Given the description of an element on the screen output the (x, y) to click on. 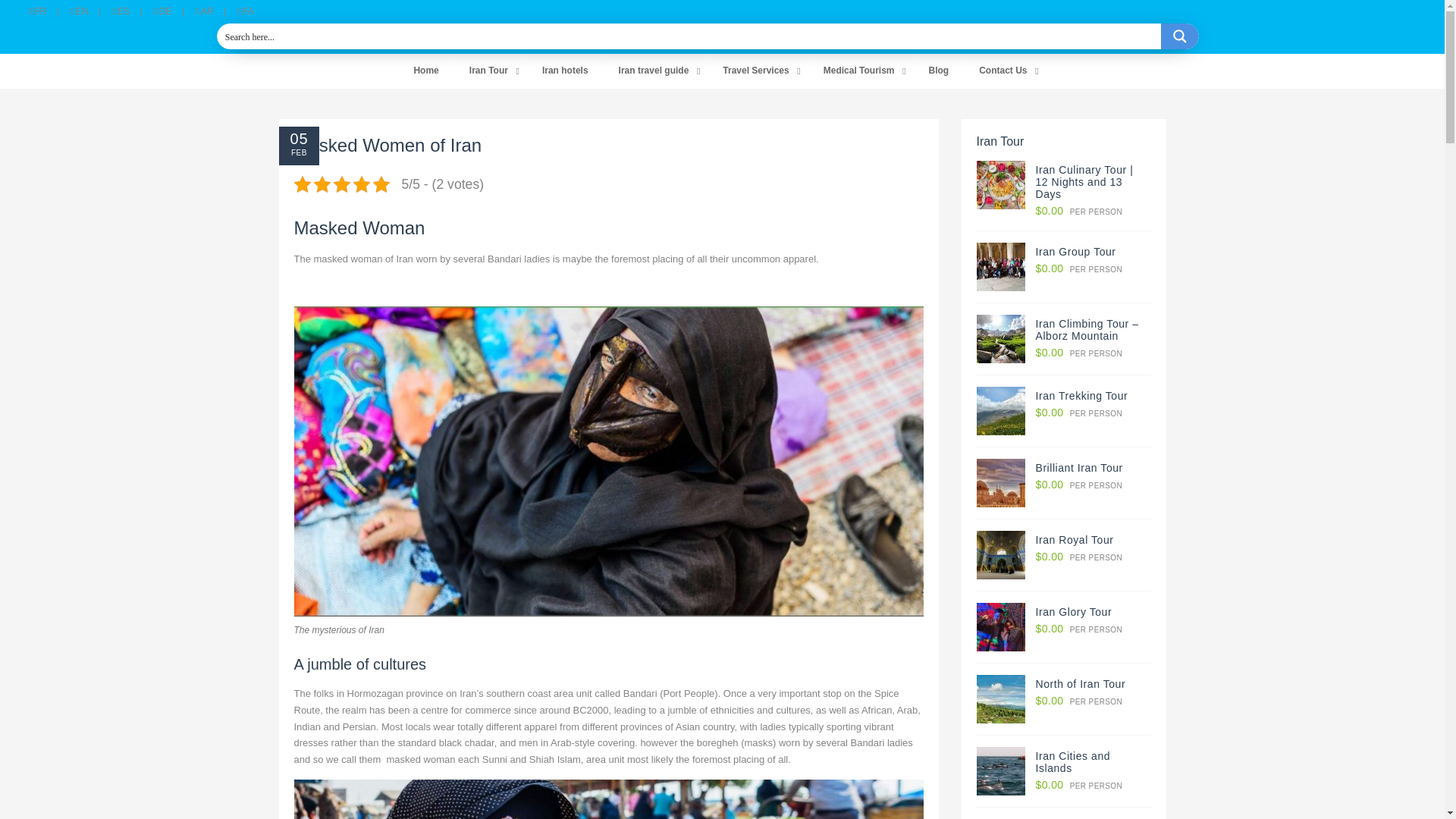
Iran Tour (490, 71)
Iran hotels (565, 71)
Iran travel guide (655, 71)
Iran hotel (565, 71)
Home (424, 71)
Travel Services (757, 71)
Iran Tour (490, 71)
Contact Us (1004, 71)
